Given the description of an element on the screen output the (x, y) to click on. 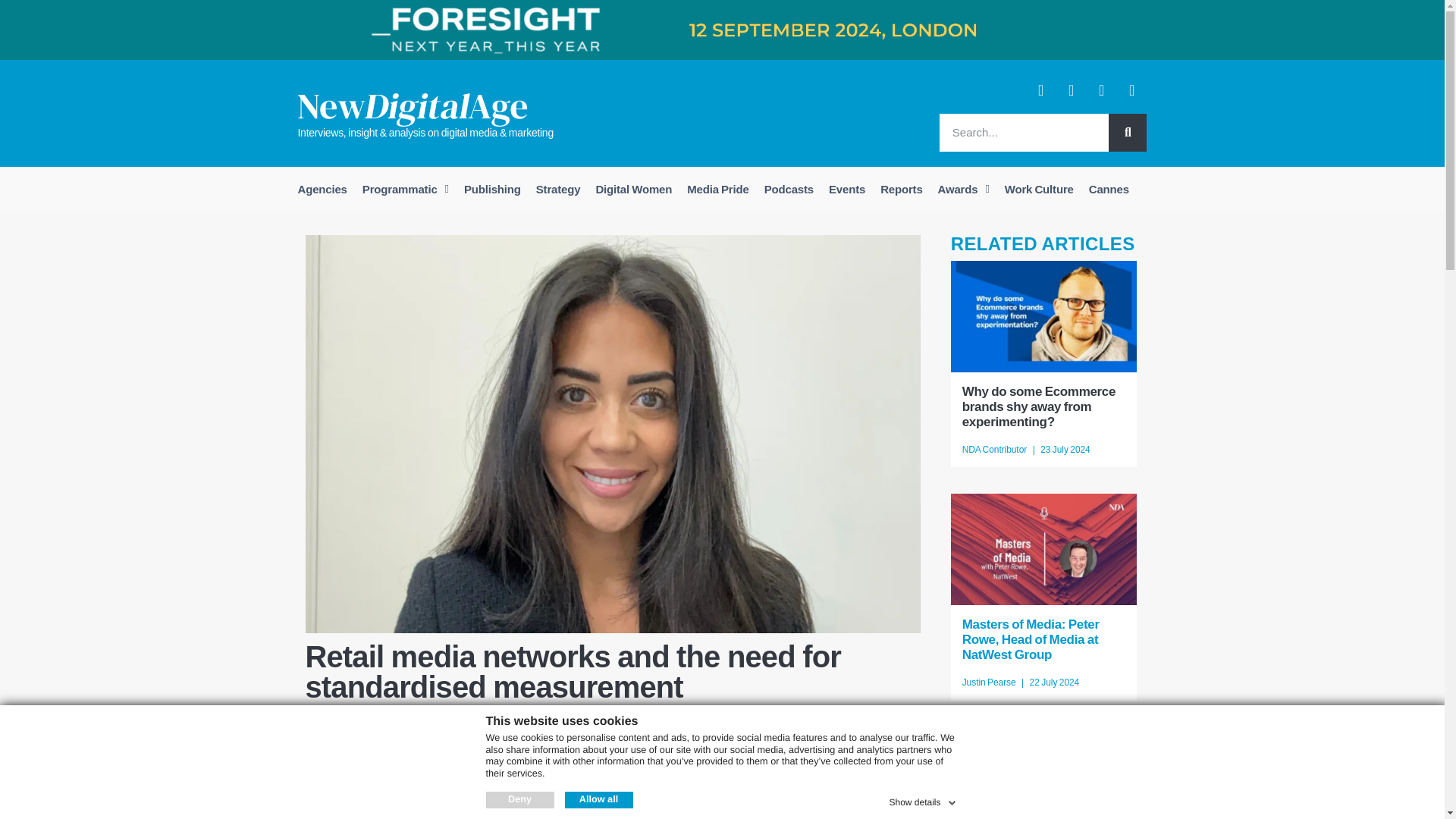
Deny (518, 799)
Show details (923, 799)
Allow all (597, 799)
